Given the description of an element on the screen output the (x, y) to click on. 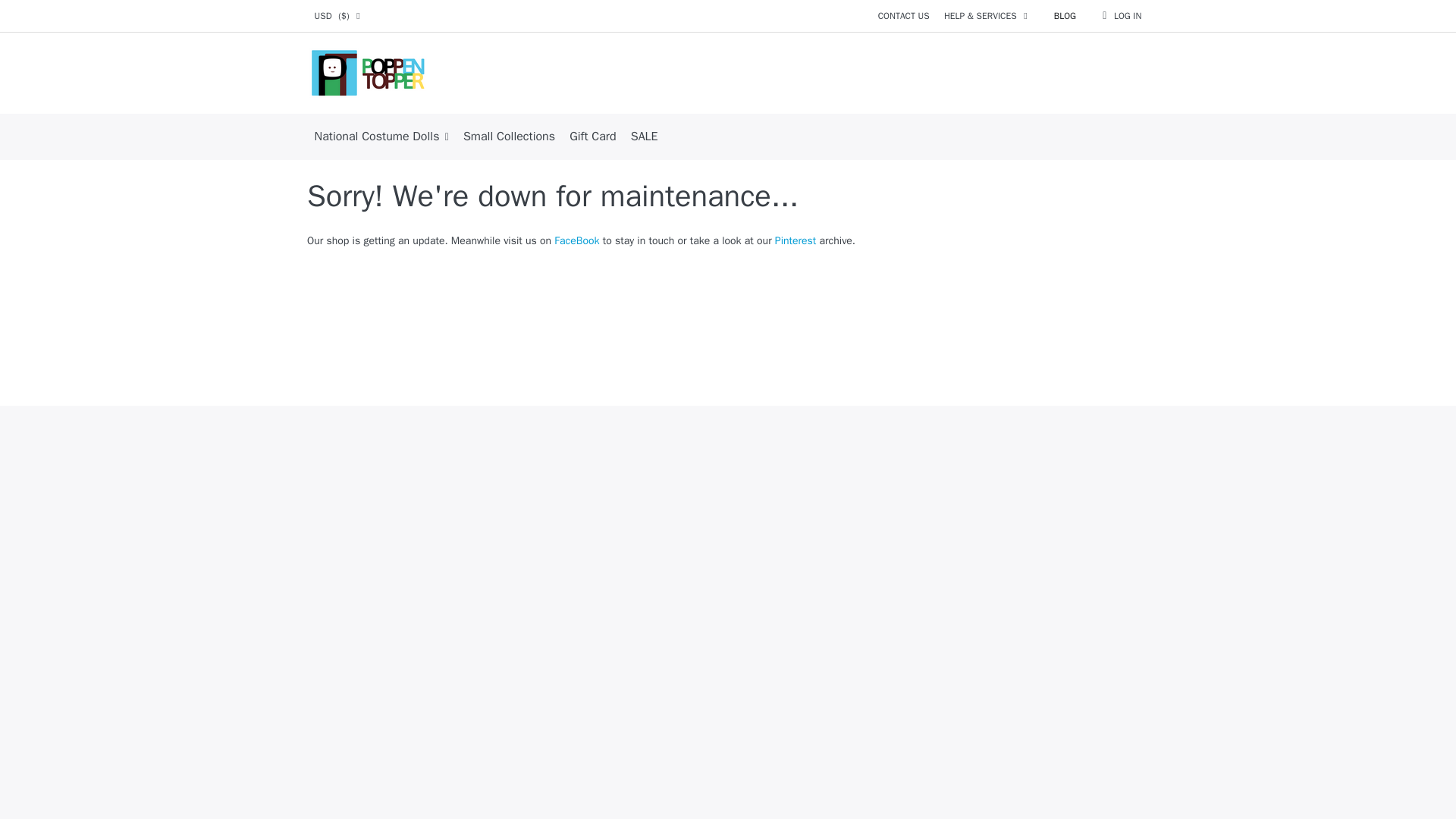
National Costume Dolls (381, 136)
SALE (644, 136)
CONTACT US (903, 15)
Small Collections (508, 136)
LOG IN (1122, 15)
FaceBook (576, 240)
Pinterest (795, 240)
Gift Card (593, 136)
BLOG (1064, 15)
poppentopper.com (373, 73)
